Given the description of an element on the screen output the (x, y) to click on. 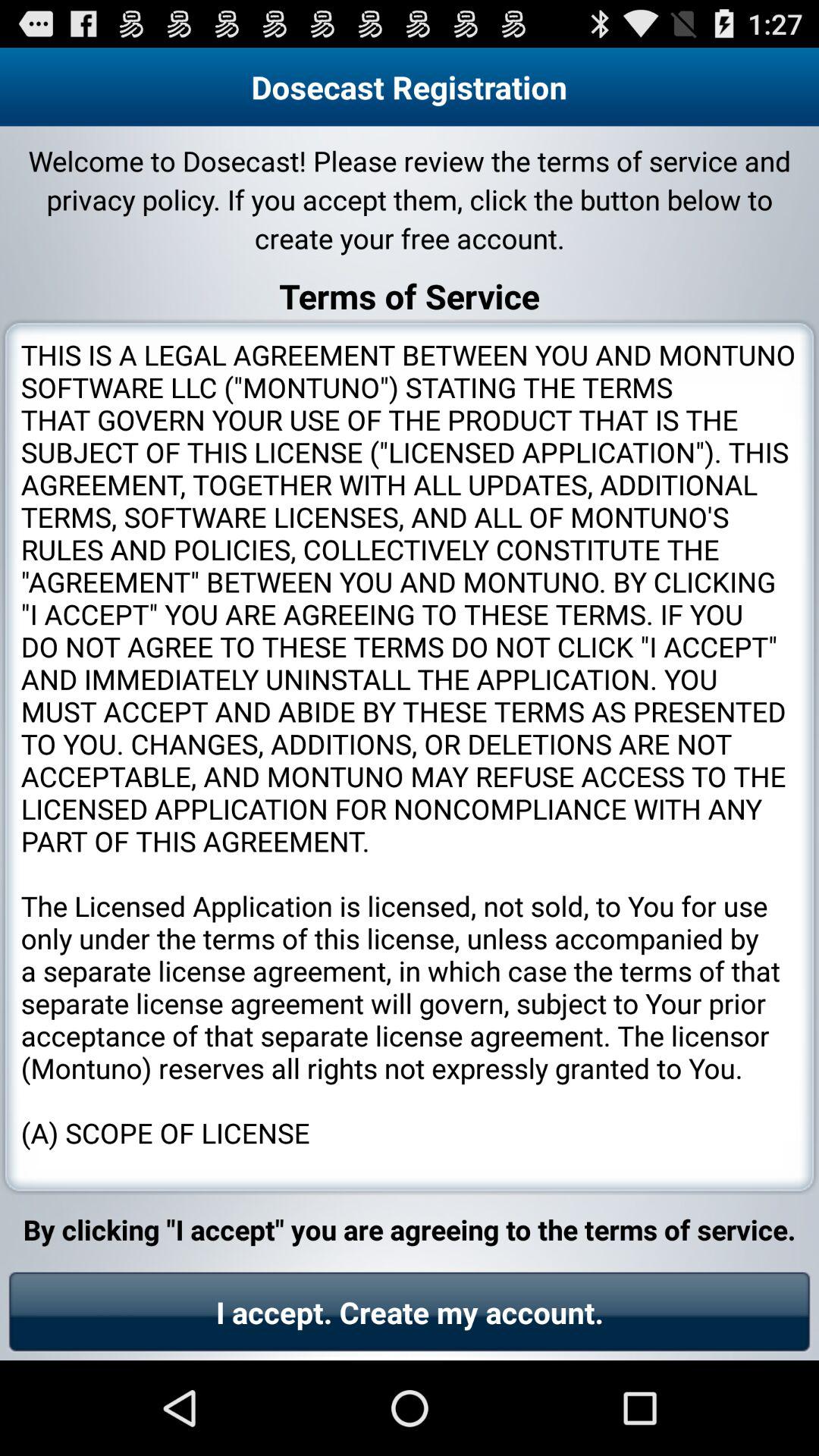
flip until the this is a app (409, 756)
